Given the description of an element on the screen output the (x, y) to click on. 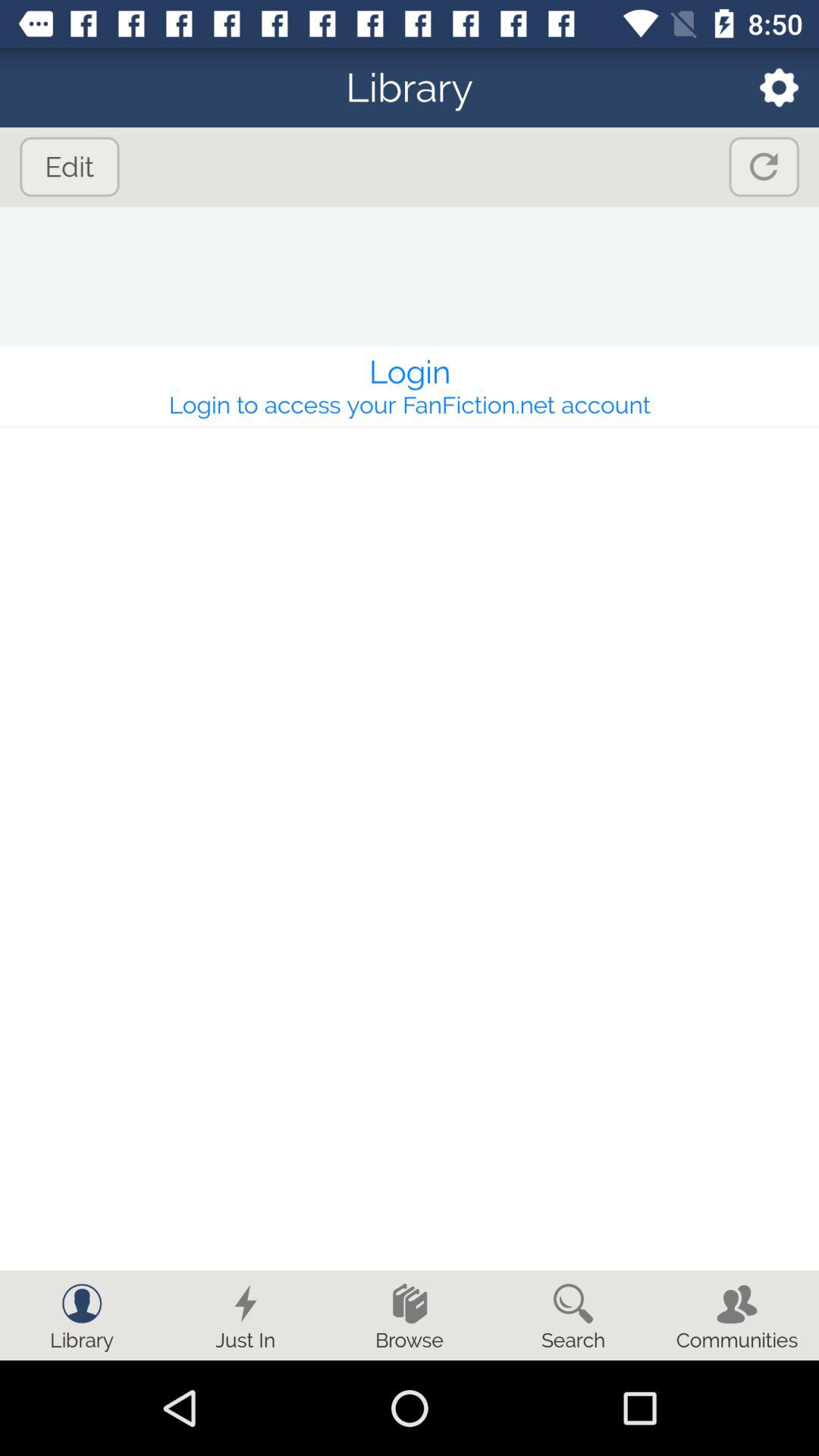
choose login to access app (409, 404)
